Given the description of an element on the screen output the (x, y) to click on. 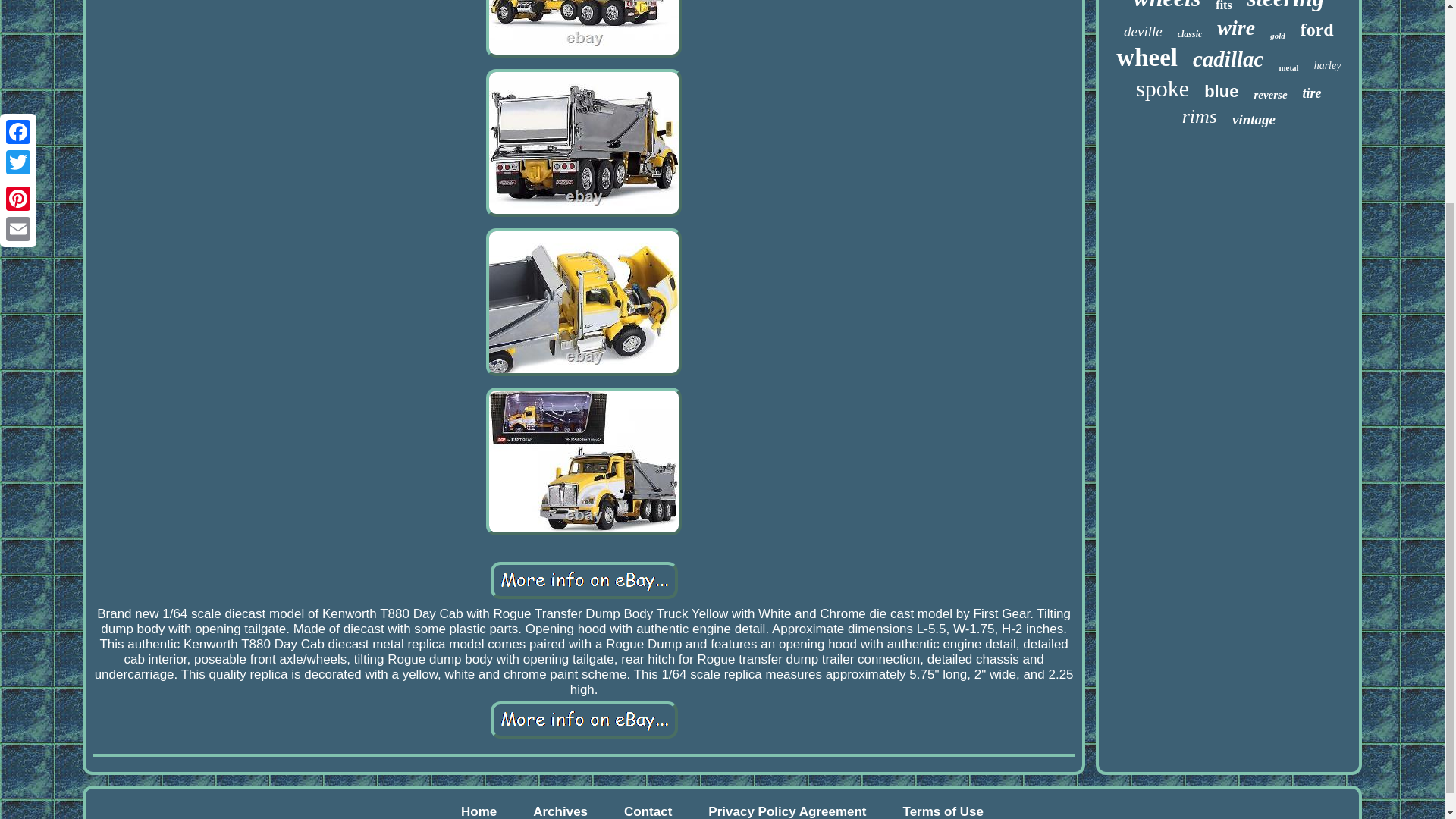
metal (1288, 67)
cadillac (1227, 59)
gold (1277, 35)
wheel (1146, 58)
ford (1316, 29)
fits (1223, 6)
